Given the description of an element on the screen output the (x, y) to click on. 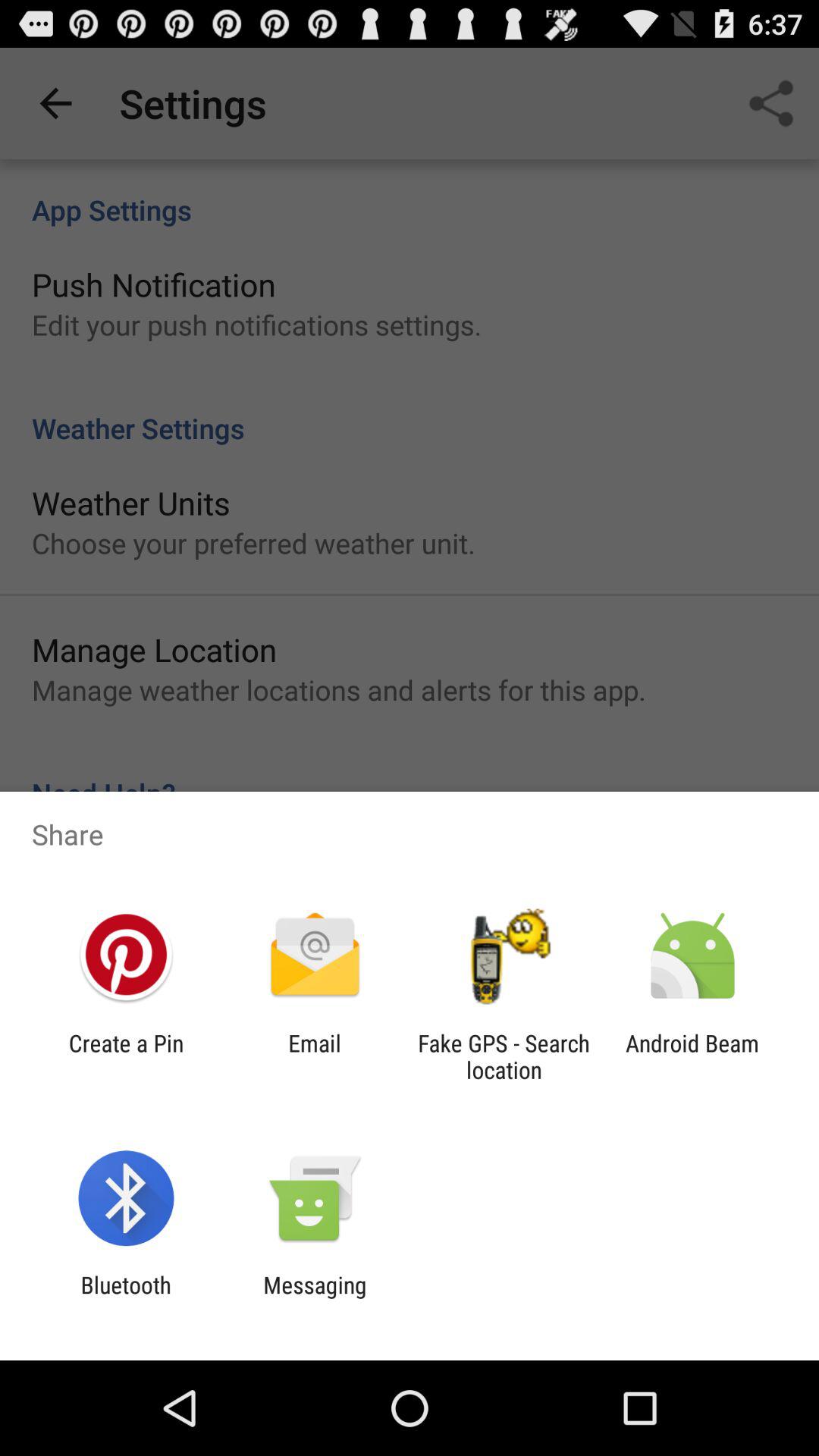
scroll to email item (314, 1056)
